Given the description of an element on the screen output the (x, y) to click on. 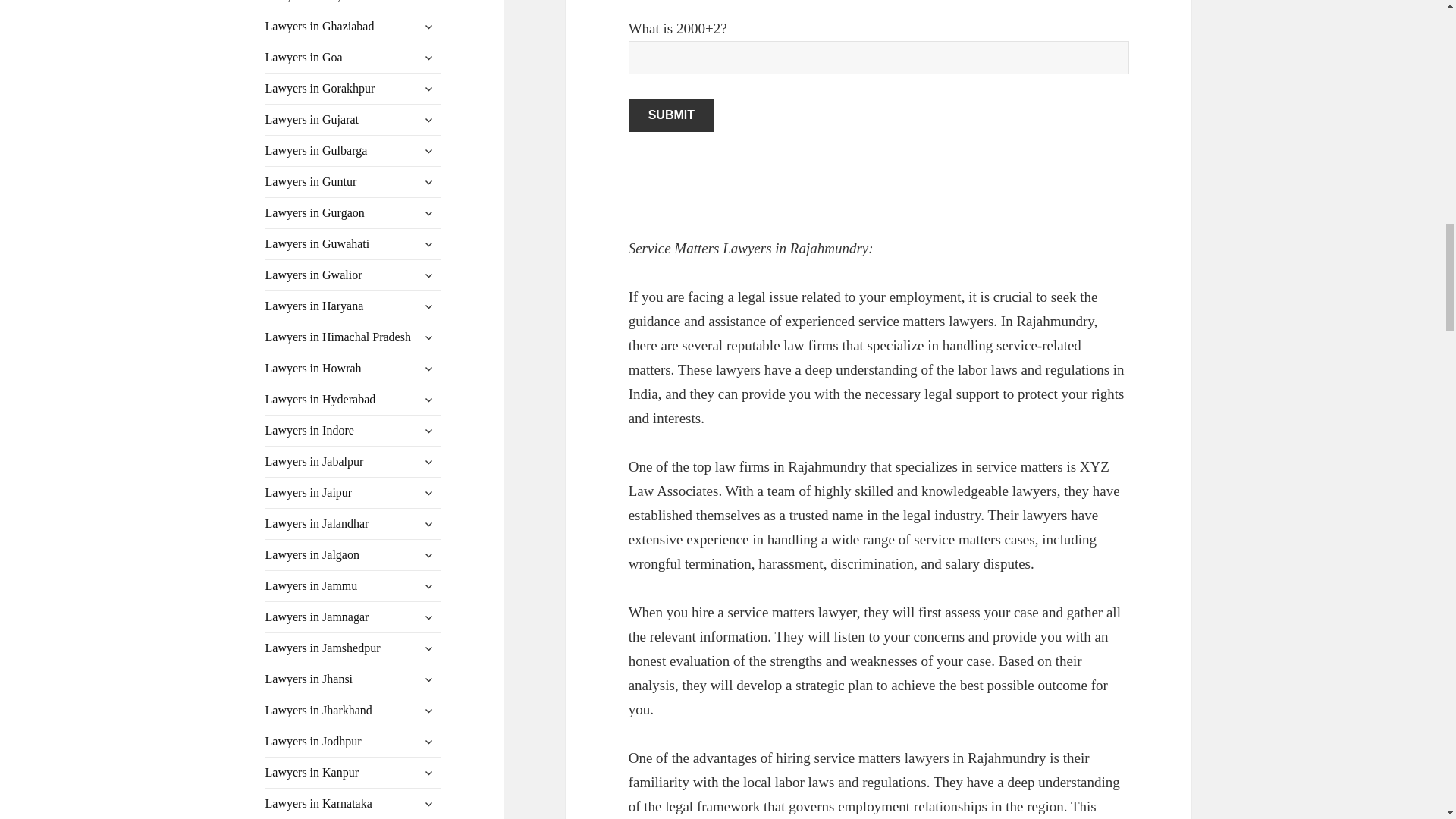
Submit (671, 114)
